Given the description of an element on the screen output the (x, y) to click on. 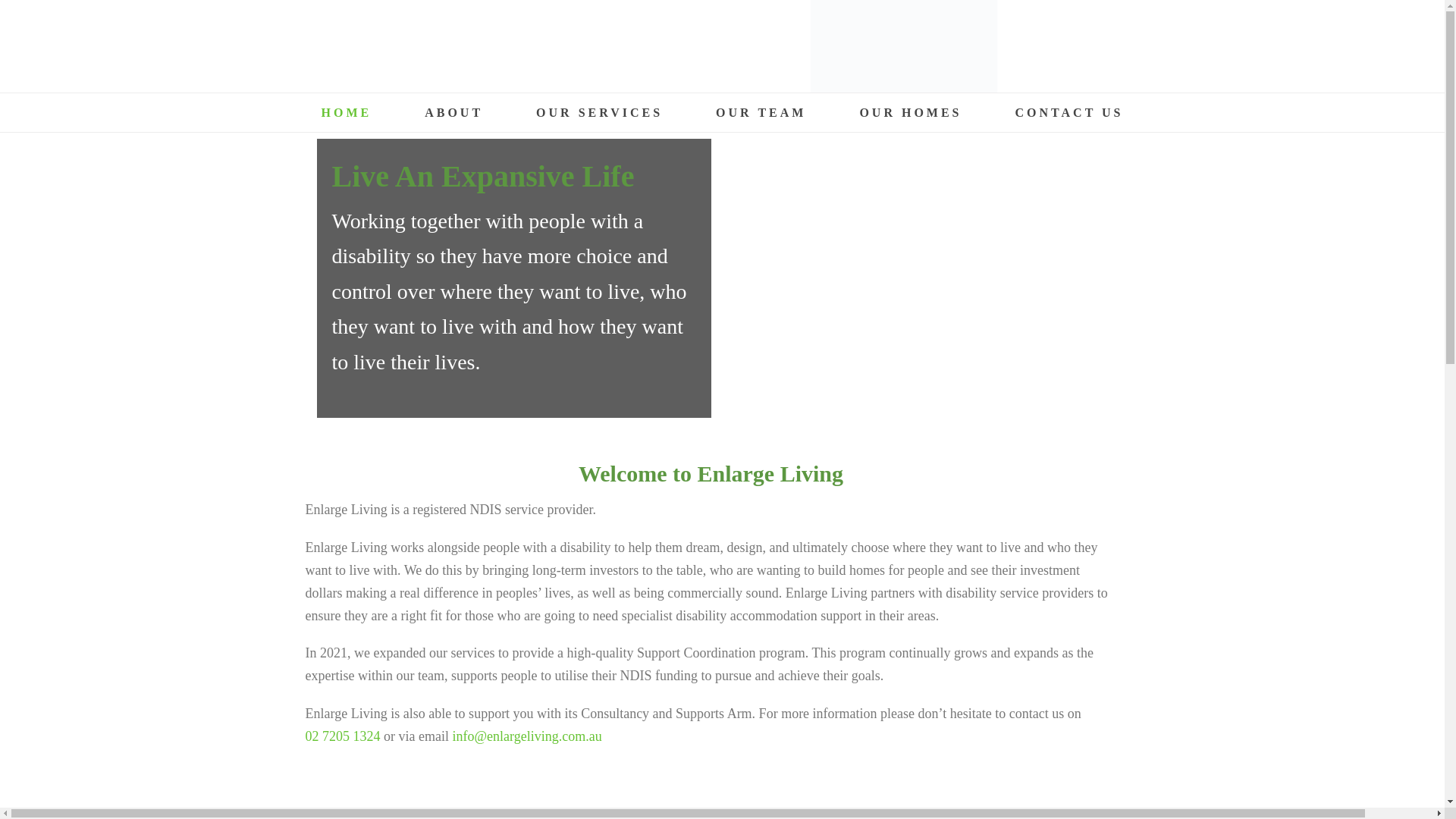
CONTACT US Element type: text (1069, 112)
OUR TEAM Element type: text (760, 112)
OUR SERVICES Element type: text (599, 112)
info@enlargeliving.com.au Element type: text (526, 735)
02 7205 1324 Element type: text (341, 735)
OUR HOMES Element type: text (910, 112)
ABOUT Element type: text (453, 112)
HOME Element type: text (346, 112)
